Given the description of an element on the screen output the (x, y) to click on. 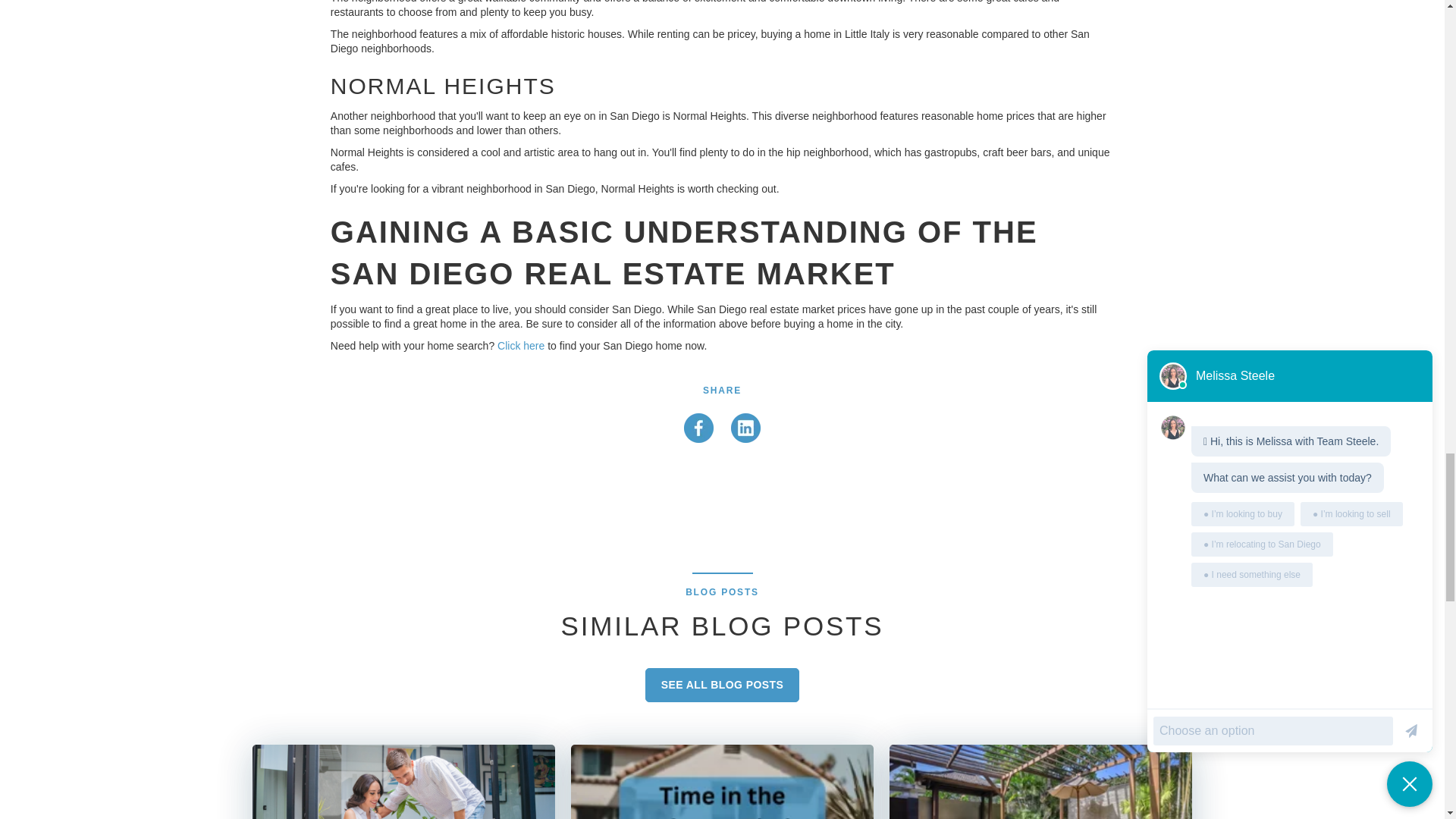
SEE ALL BLOG POSTS (722, 684)
SEE ALL BLOG POSTS (722, 684)
Click here (520, 345)
